Given the description of an element on the screen output the (x, y) to click on. 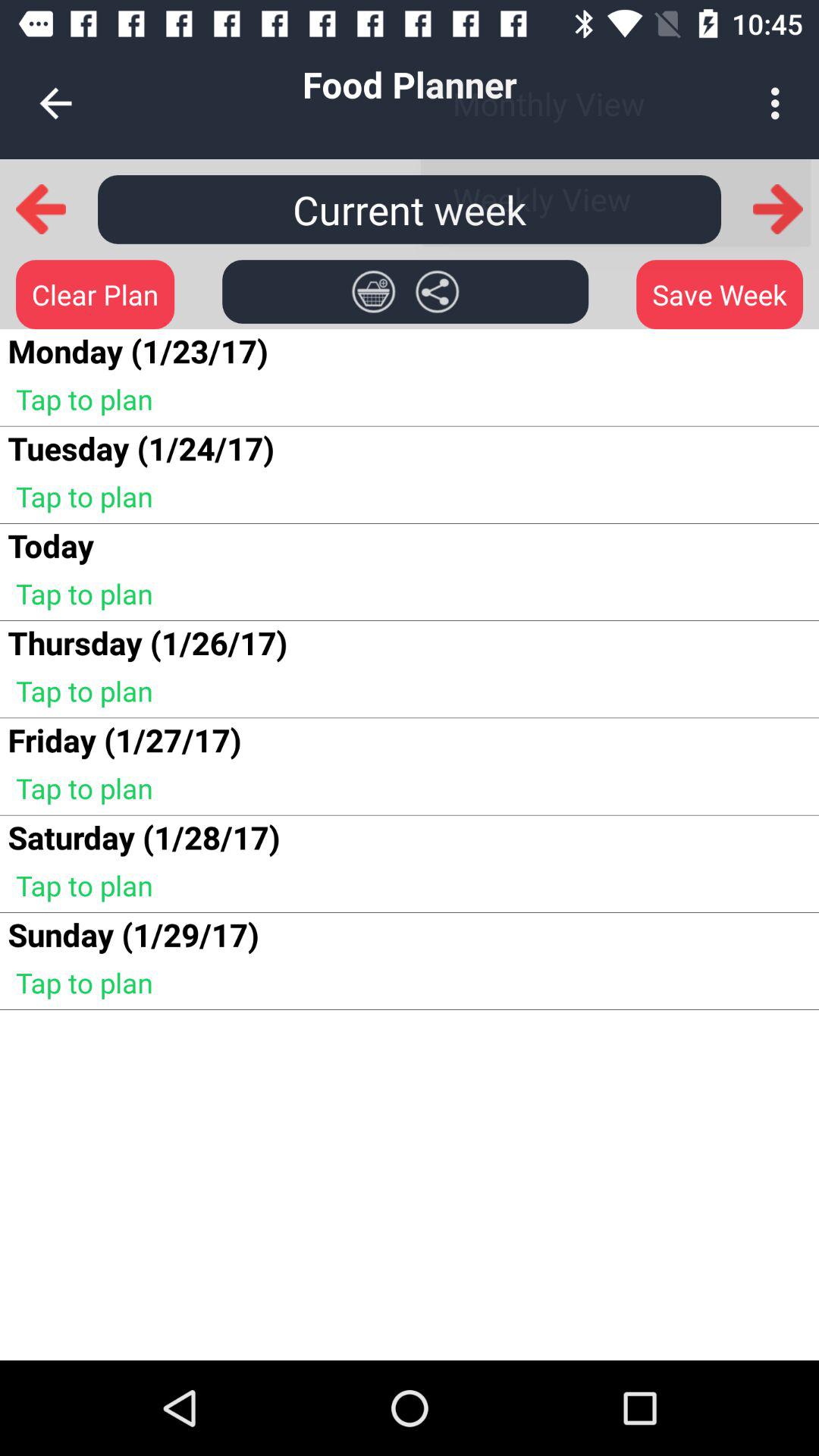
choose item next to save week (437, 291)
